Given the description of an element on the screen output the (x, y) to click on. 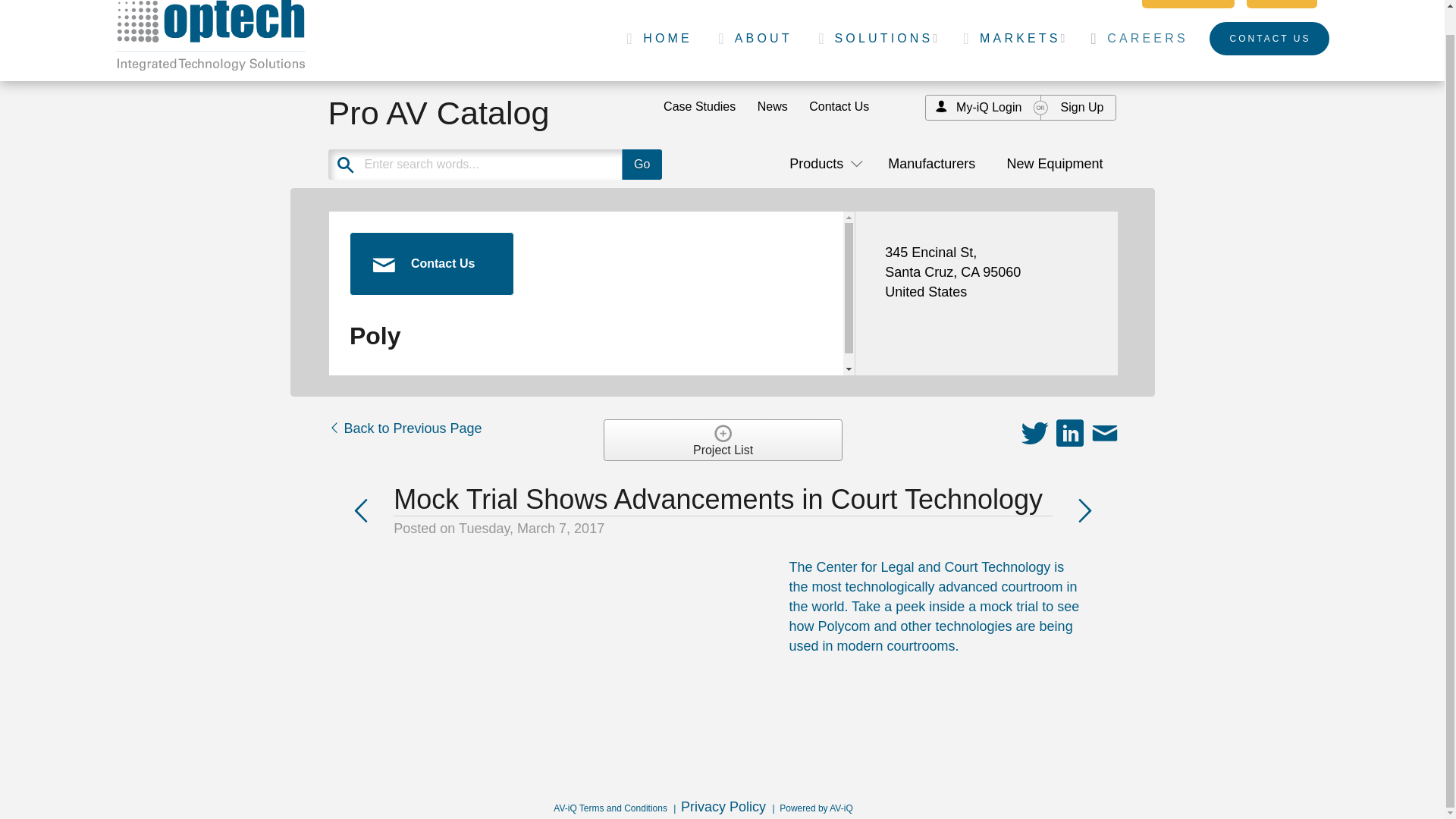
HOME (655, 38)
Go (641, 164)
CAREERS (1135, 38)
Submit Work Request (931, 3)
ABOUT (751, 38)
CONTACT US (1269, 38)
MARKETS (1010, 38)
Enter search words... (531, 164)
Make a Payment (797, 3)
Portal Login (1187, 3)
